Given the description of an element on the screen output the (x, y) to click on. 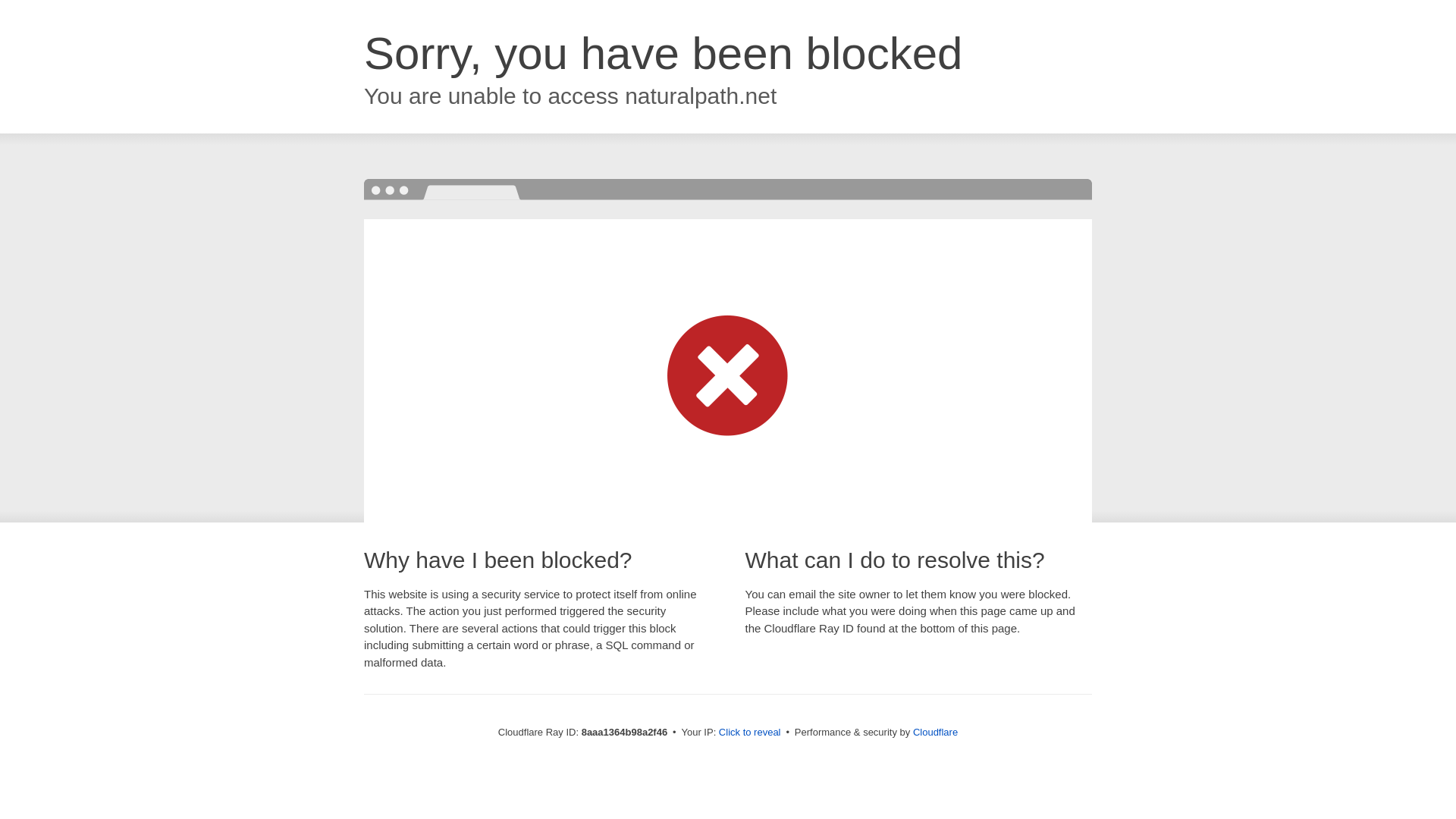
Click to reveal (749, 732)
Cloudflare (935, 731)
